Given the description of an element on the screen output the (x, y) to click on. 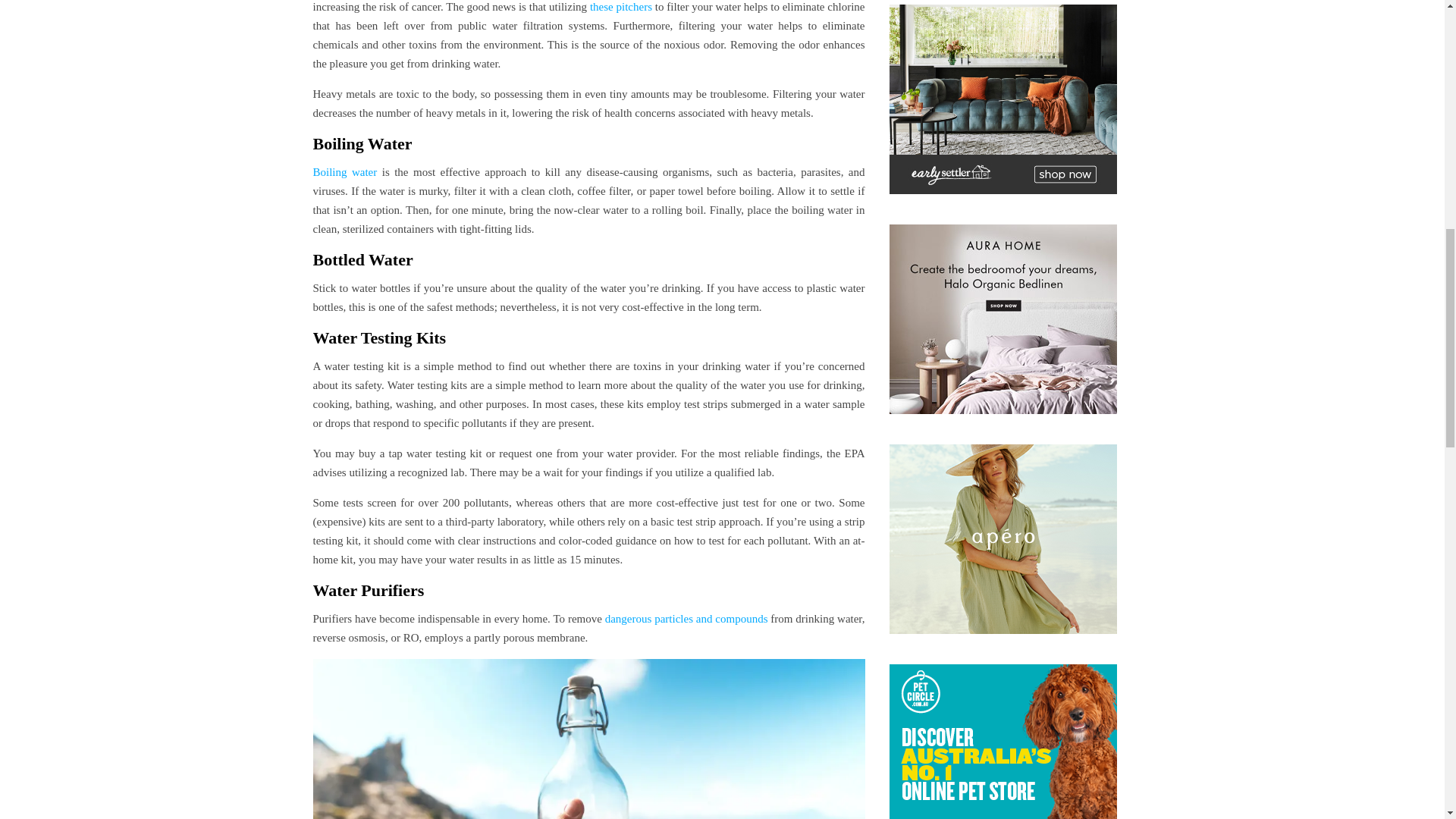
Boiling water (345, 172)
dangerous particles and compounds (685, 618)
these pitchers (619, 6)
